Given the description of an element on the screen output the (x, y) to click on. 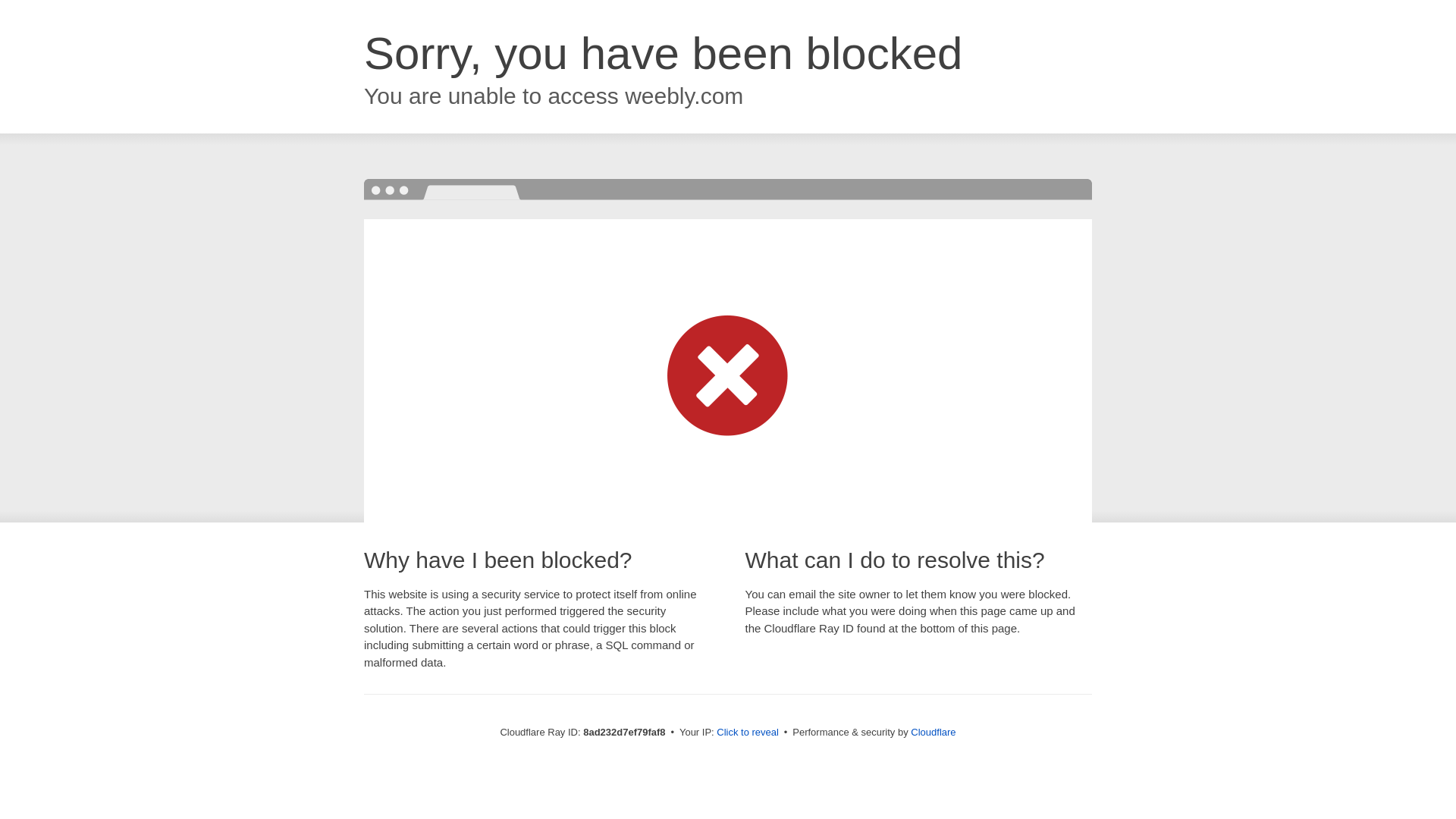
Cloudflare (933, 731)
Click to reveal (747, 732)
